Given the description of an element on the screen output the (x, y) to click on. 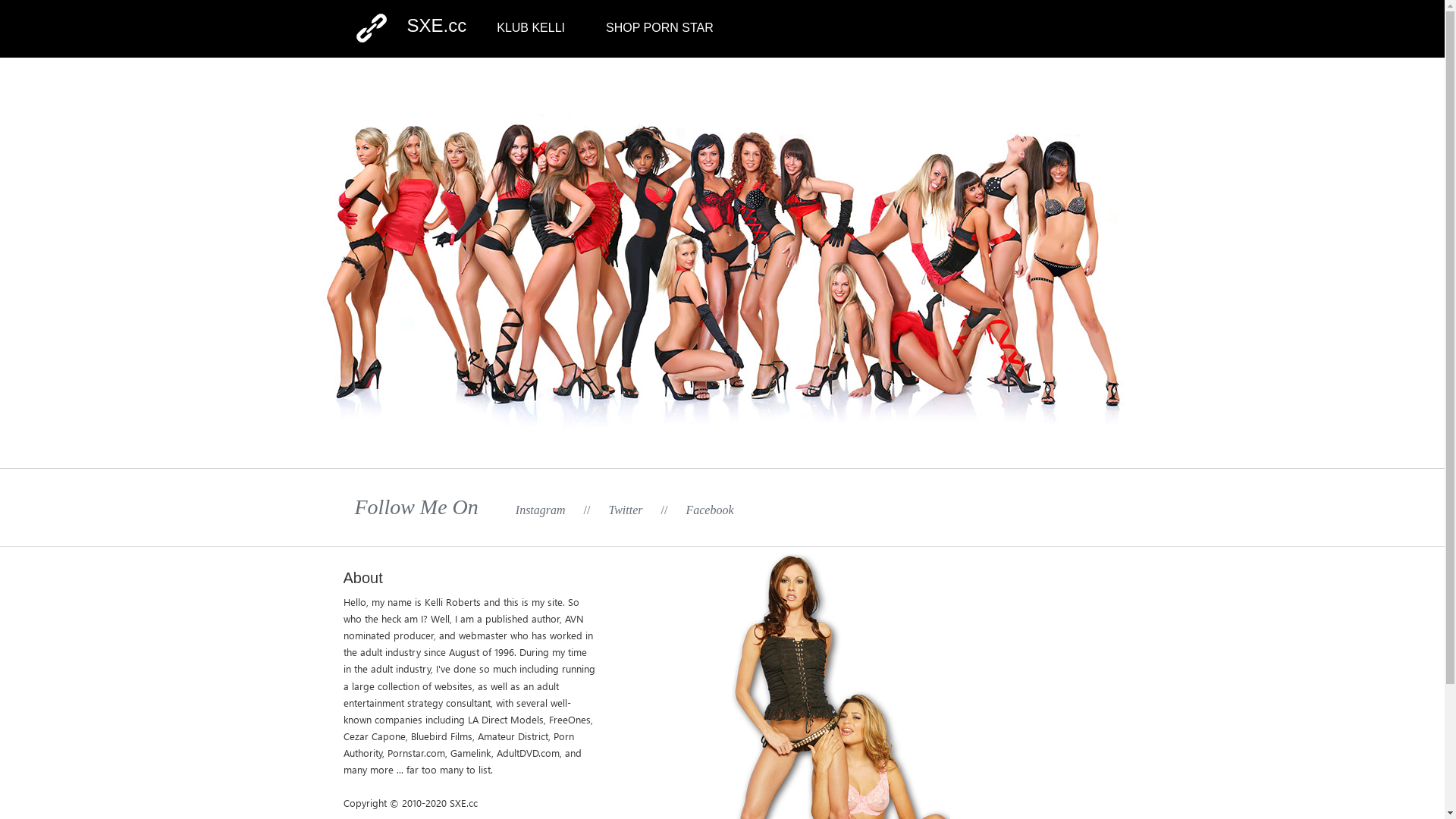
SXE.cc Element type: text (436, 25)
Twitter Element type: text (625, 509)
Facebook Element type: text (709, 509)
Instagram Element type: text (540, 509)
KLUB KELLI Element type: text (530, 27)
SHOP PORN STAR Element type: text (659, 27)
